Given the description of an element on the screen output the (x, y) to click on. 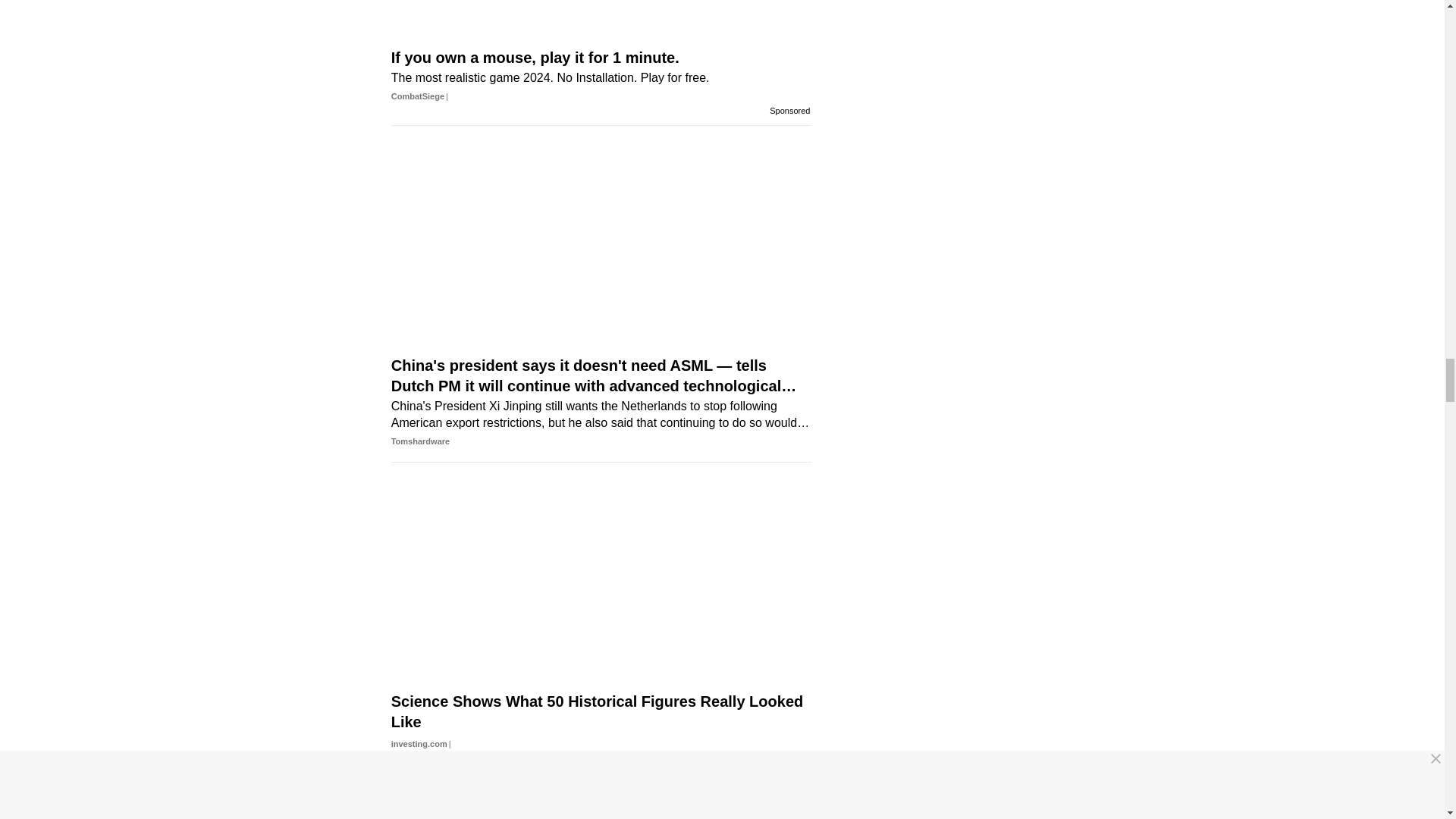
Science Shows What 50 Historical Figures Really Looked Like (600, 689)
If you own a mouse, play it for 1 minute. (600, 43)
